Given the description of an element on the screen output the (x, y) to click on. 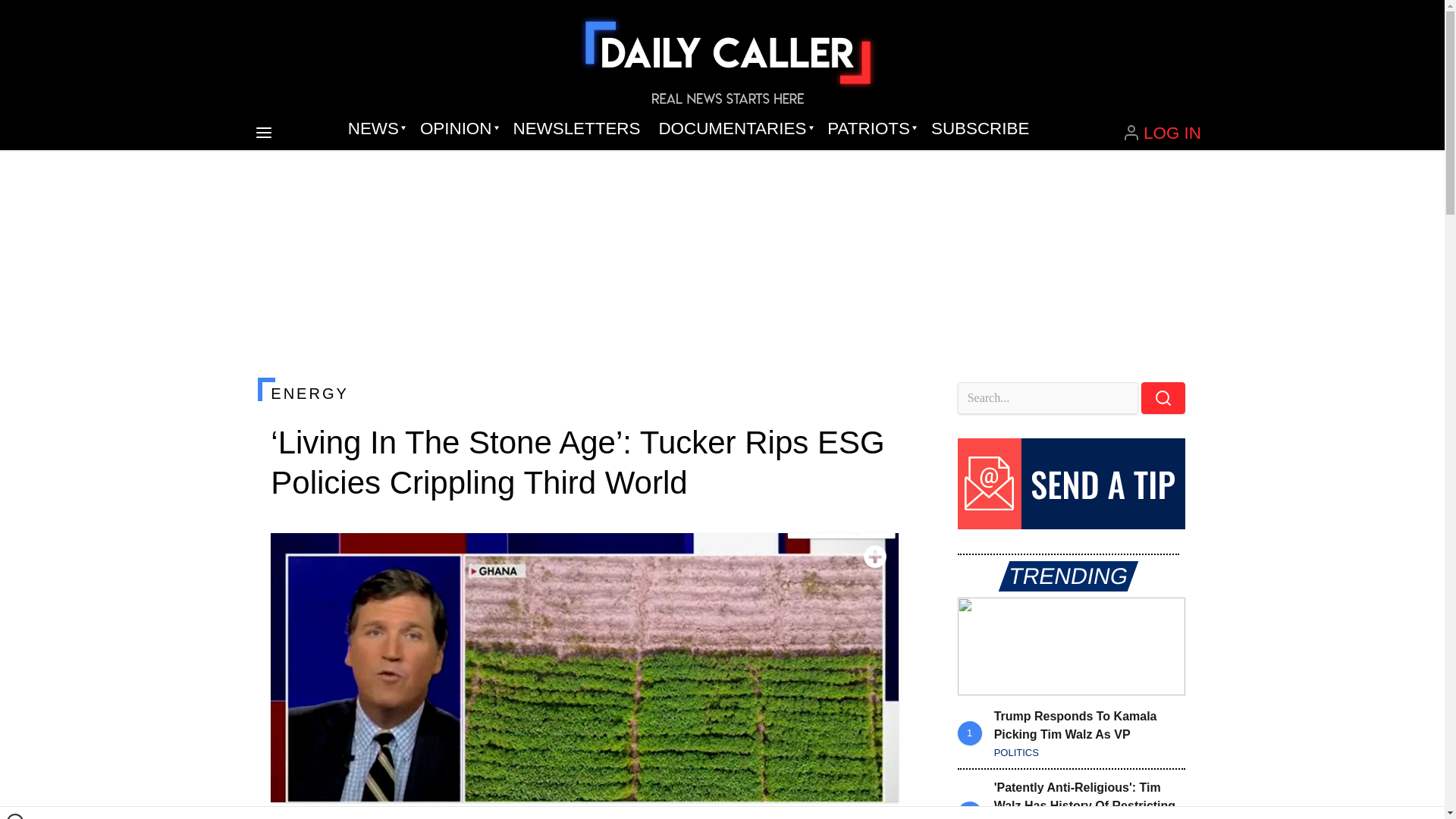
ENERGY (584, 393)
OPINION (456, 128)
Close window (14, 816)
Toggle fullscreen (874, 556)
SUBSCRIBE (979, 128)
DOCUMENTARIES (733, 128)
NEWSLETTERS (576, 128)
Trump Responds To Kamala Picking Tim Walz As VP (1071, 646)
PATRIOTS (869, 128)
NEWS (374, 128)
